Given the description of an element on the screen output the (x, y) to click on. 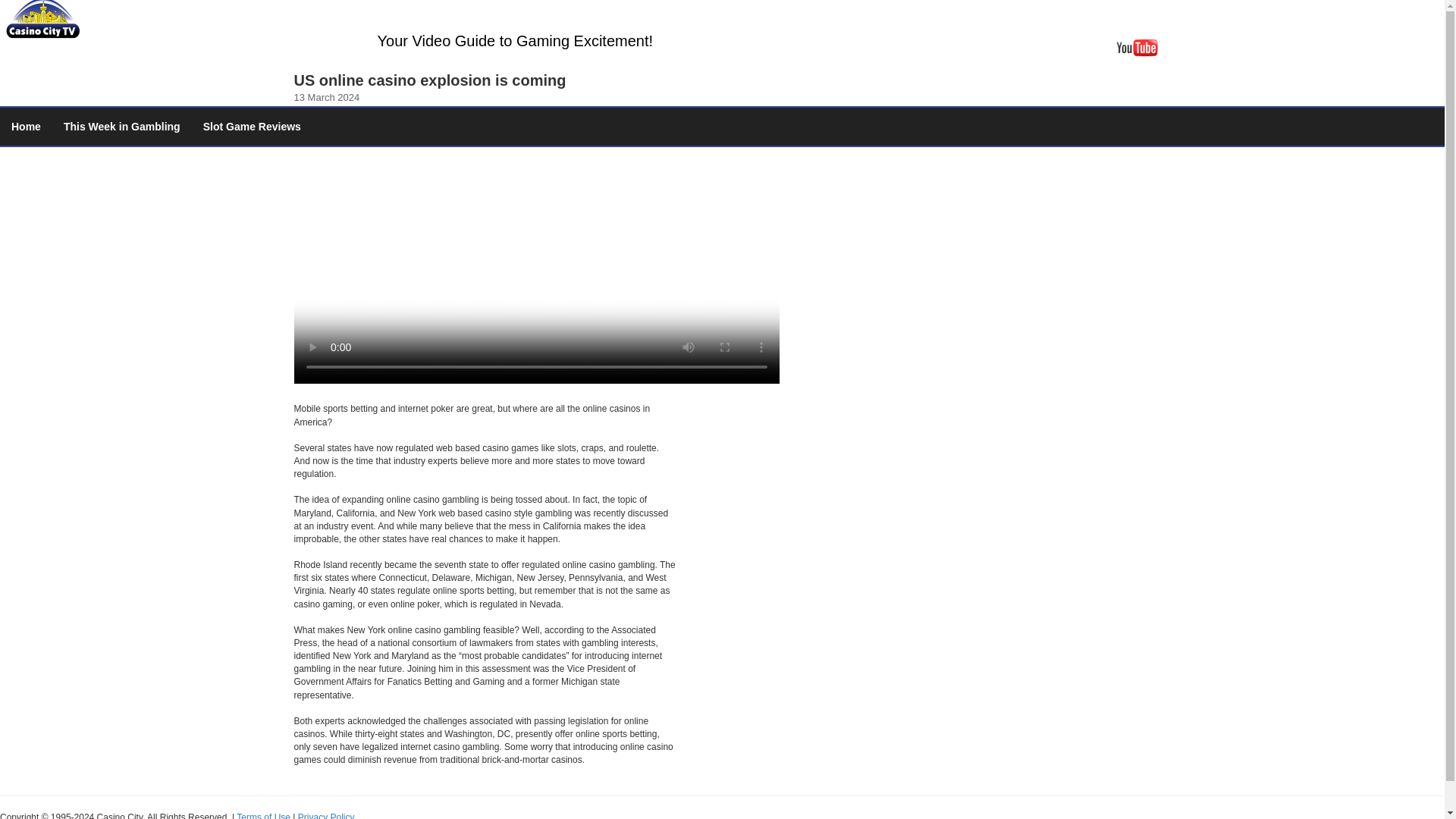
Privacy Policy (326, 815)
Slot Game Reviews (252, 126)
This Week in Gambling (122, 126)
Home (26, 126)
Terms of Use (262, 815)
